Given the description of an element on the screen output the (x, y) to click on. 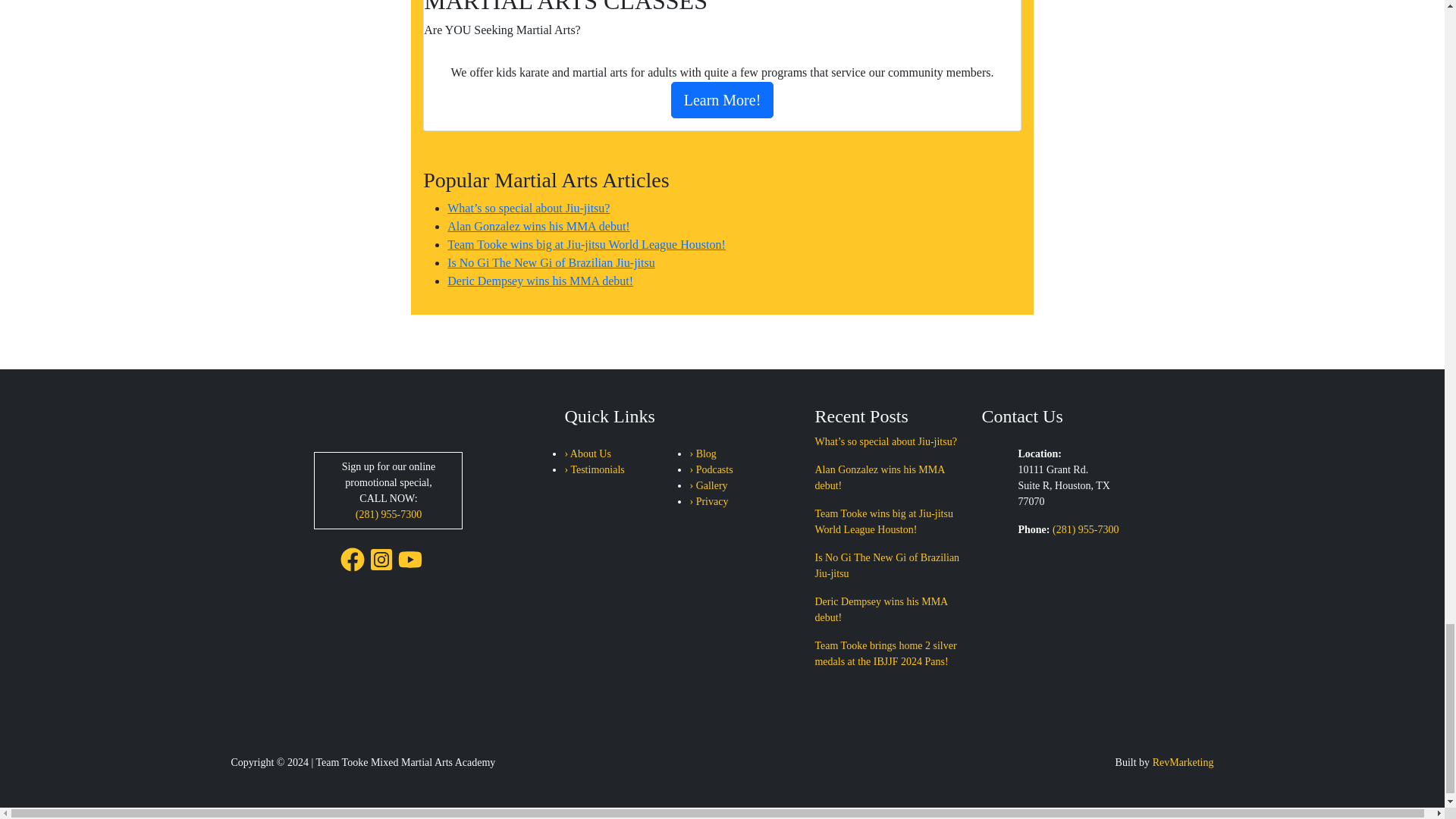
Team Tooke wins big at Jiu-jitsu World League Houston! (585, 244)
Learn More! (722, 99)
Alan Gonzalez wins his MMA debut! (537, 226)
Deric Dempsey wins his MMA debut! (539, 280)
Is No Gi The New Gi of Brazilian Jiu-jitsu (549, 262)
